Given the description of an element on the screen output the (x, y) to click on. 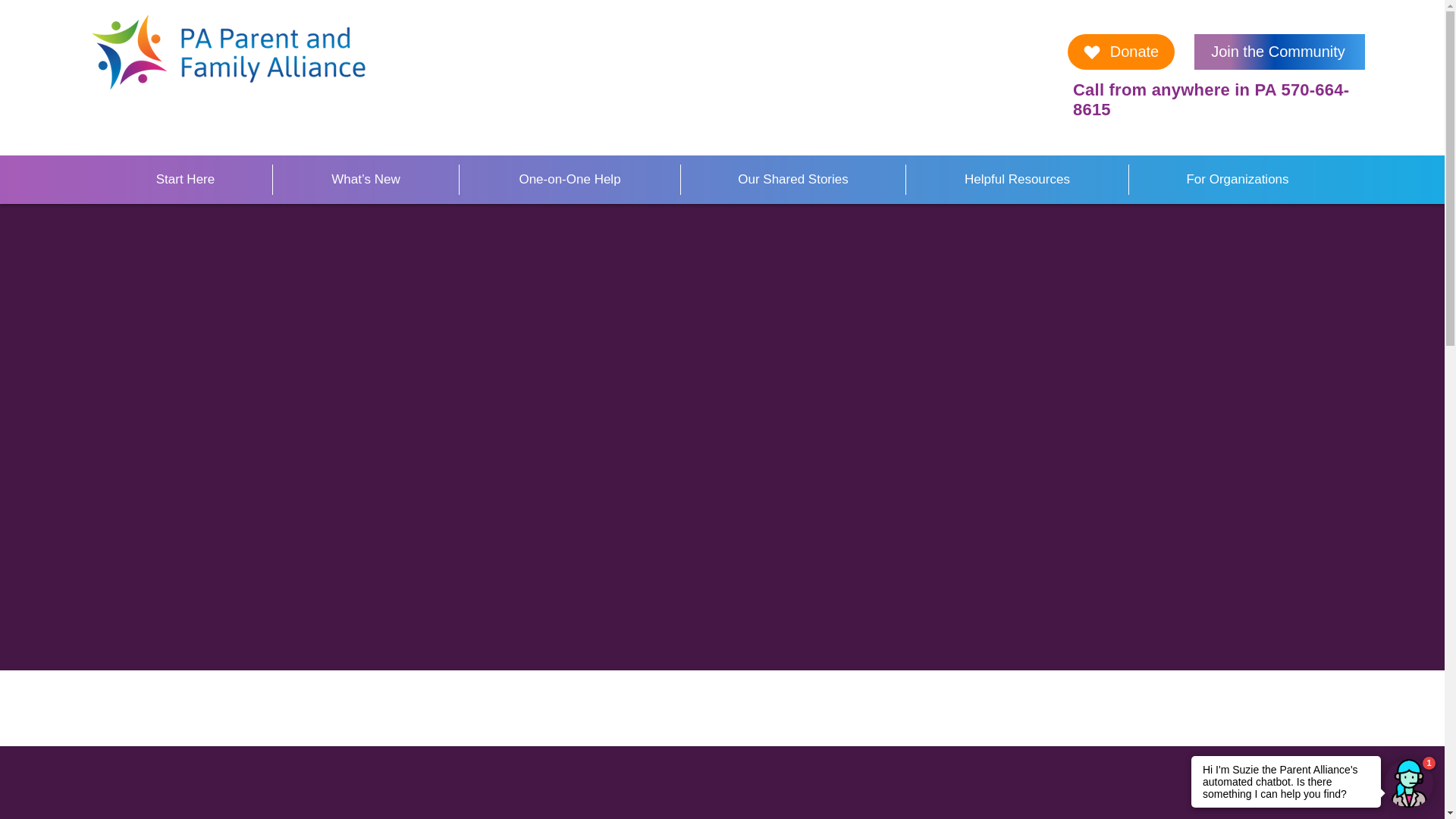
Join the Community (1279, 51)
Donate (1120, 51)
Helpful Resources (1016, 179)
Start Here (185, 179)
Our Shared Stories (792, 179)
For Organizations (1236, 179)
One-on-One Help (568, 179)
